Given the description of an element on the screen output the (x, y) to click on. 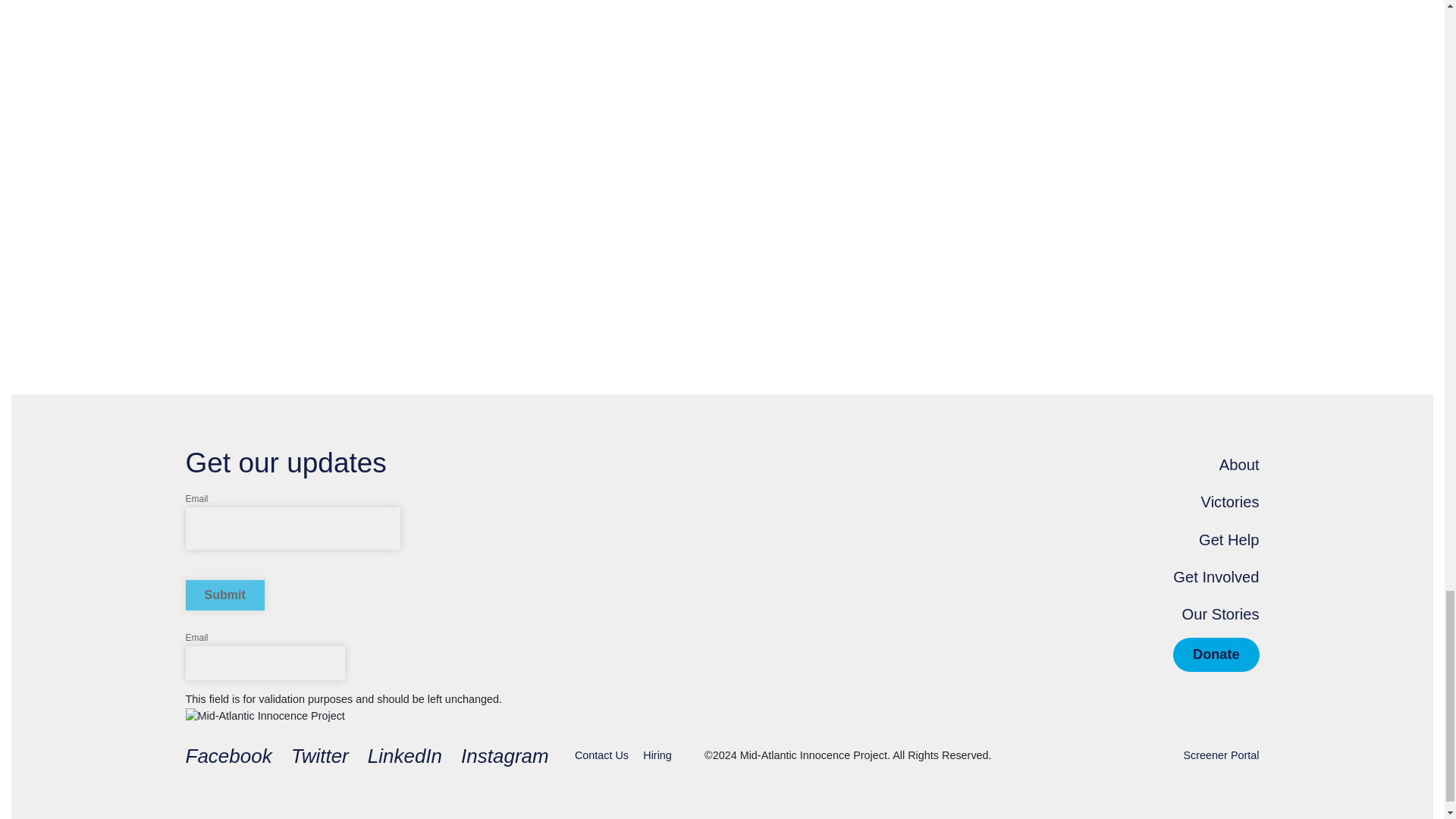
Twitter (320, 756)
Victories (1230, 501)
Our Stories (1220, 614)
Submit (223, 594)
Get Help (1228, 539)
About (1239, 464)
Submit (223, 594)
Facebook (227, 756)
Get Involved (1216, 576)
LinkedIn (405, 756)
